Given the description of an element on the screen output the (x, y) to click on. 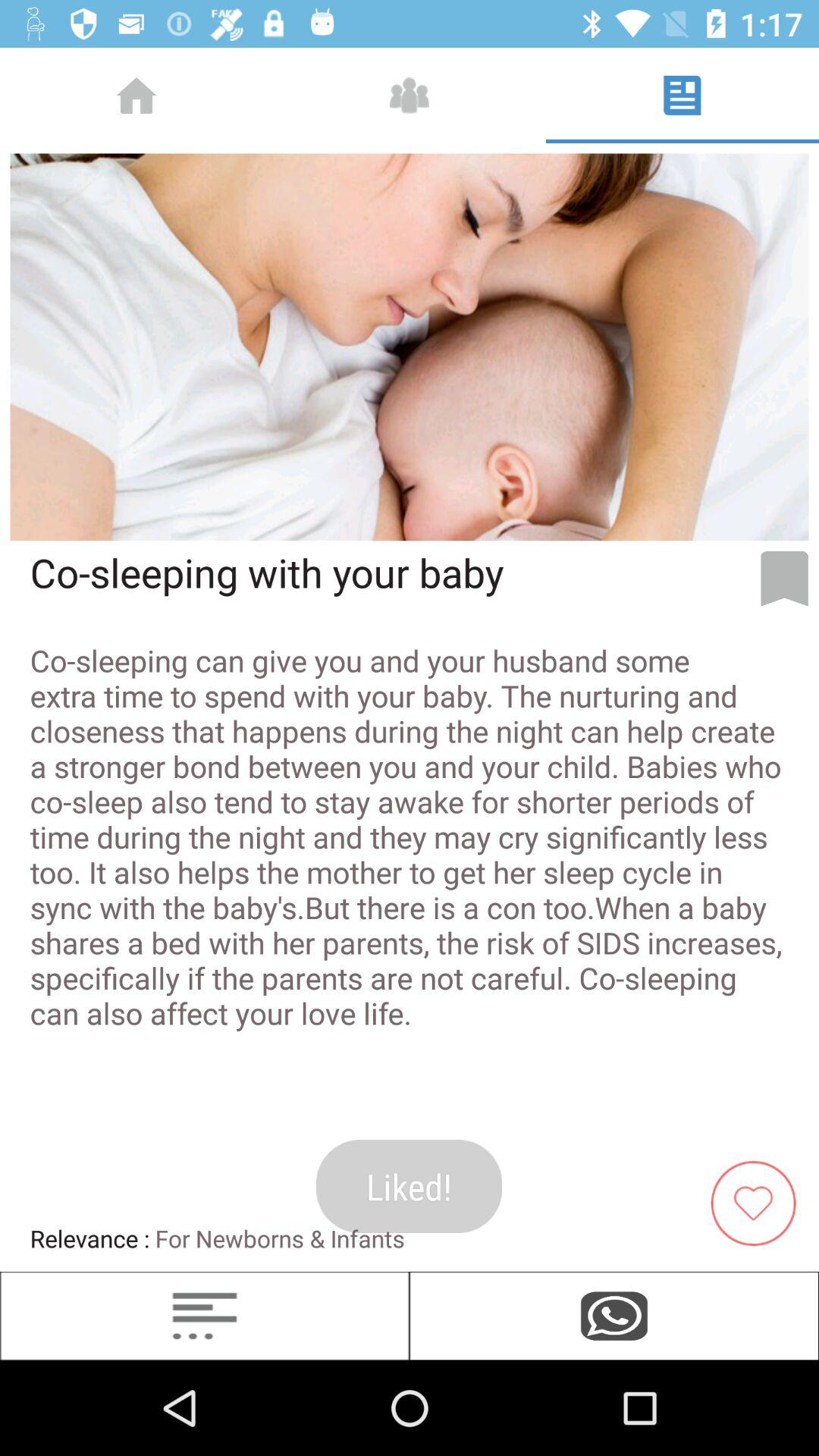
select item next to co sleeping with (784, 578)
